Given the description of an element on the screen output the (x, y) to click on. 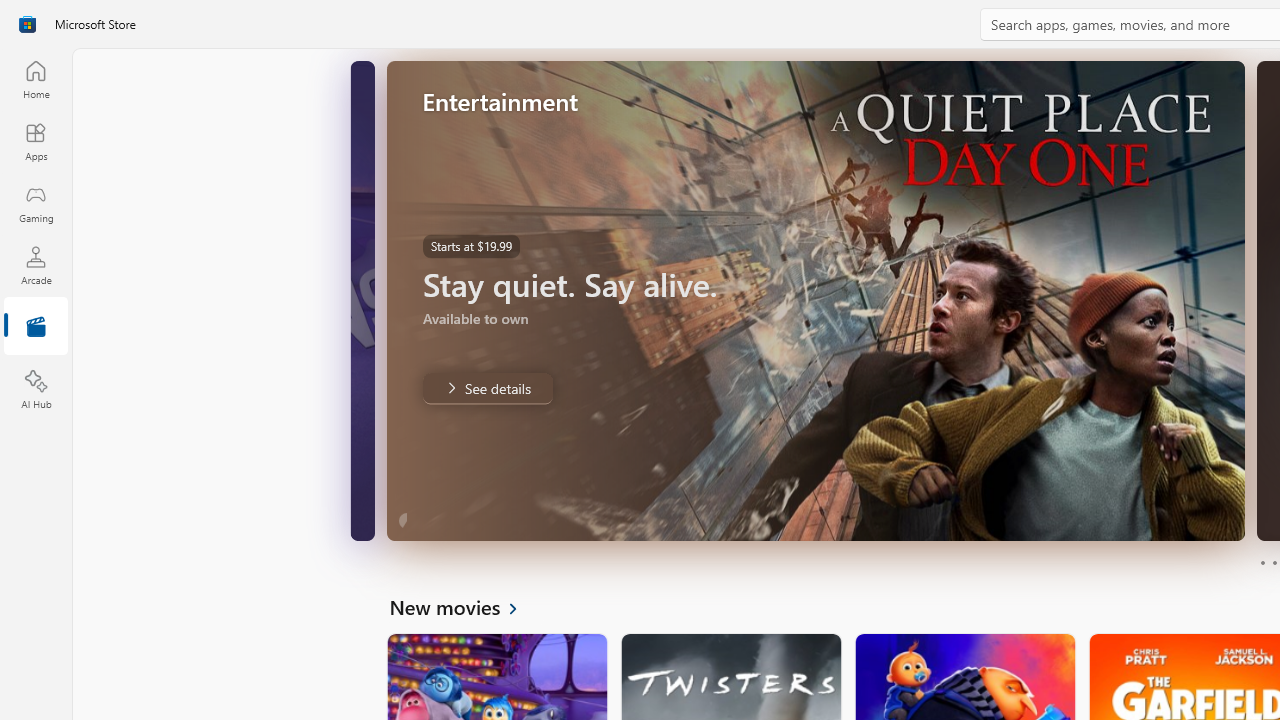
AutomationID: Image (815, 300)
See all  New movies (464, 606)
Page 2 (1274, 562)
Page 1 (1261, 562)
